Given the description of an element on the screen output the (x, y) to click on. 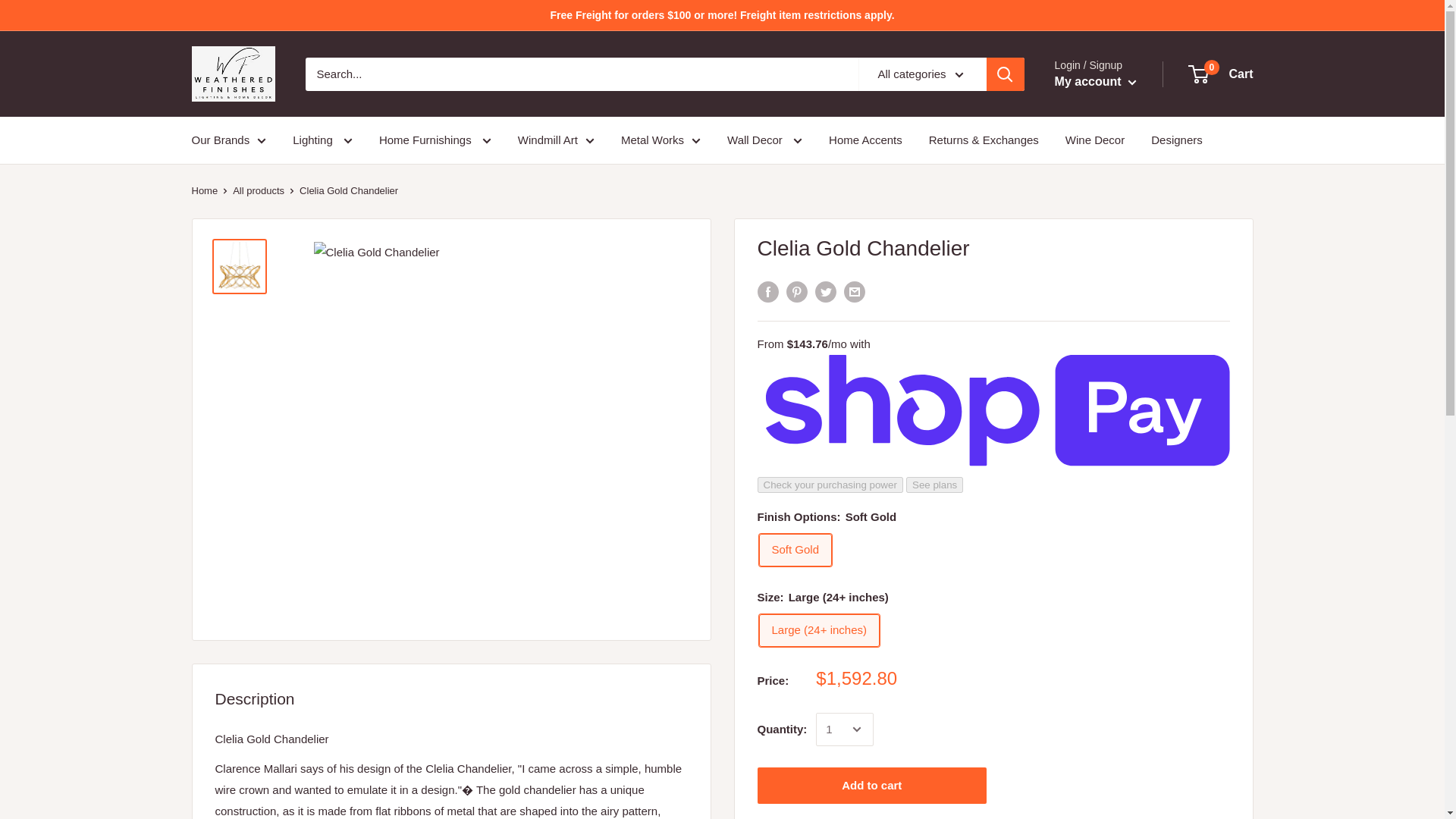
Soft Gold (794, 549)
